Given the description of an element on the screen output the (x, y) to click on. 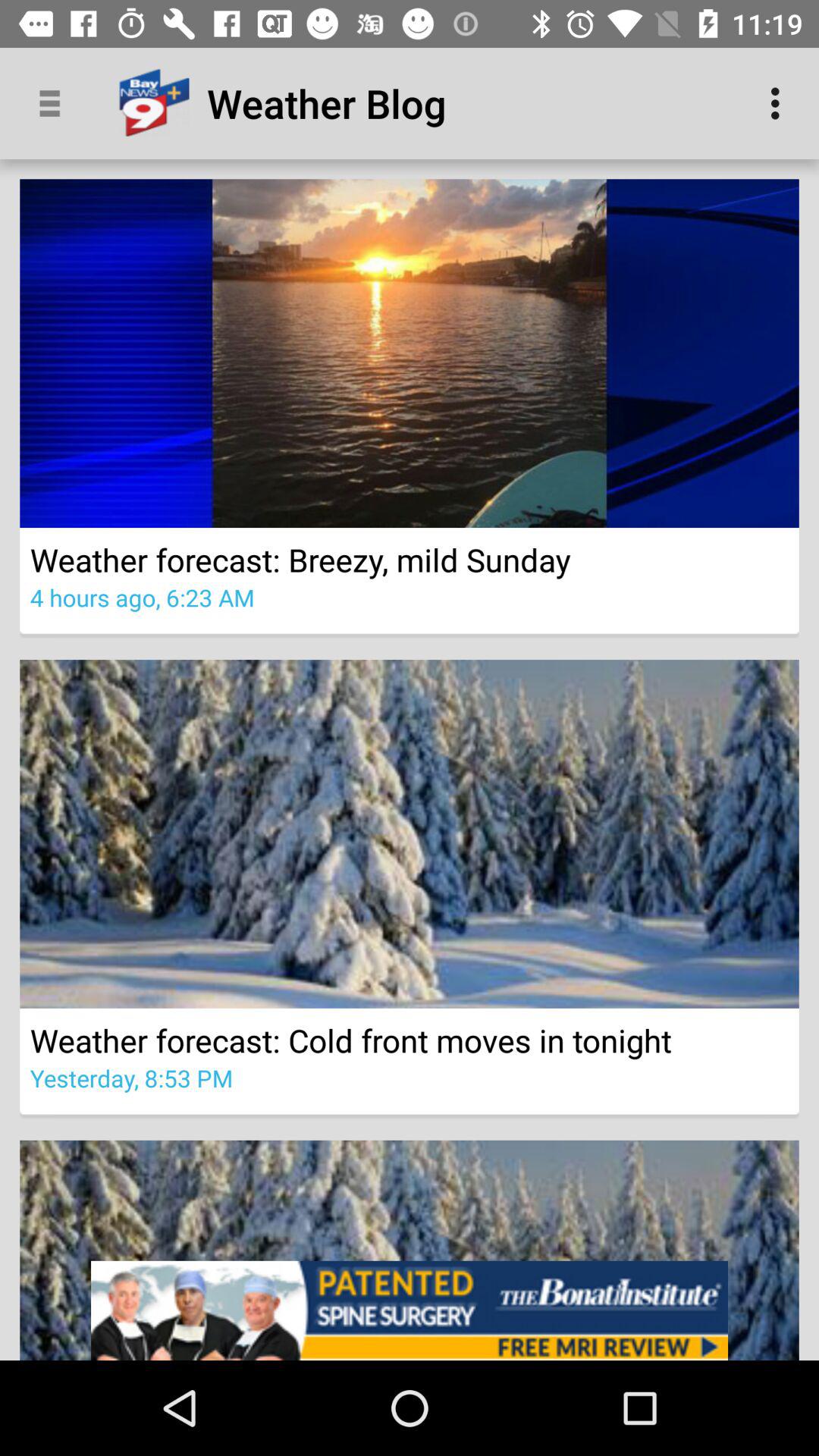
launch icon next to the weather blog icon (779, 103)
